Given the description of an element on the screen output the (x, y) to click on. 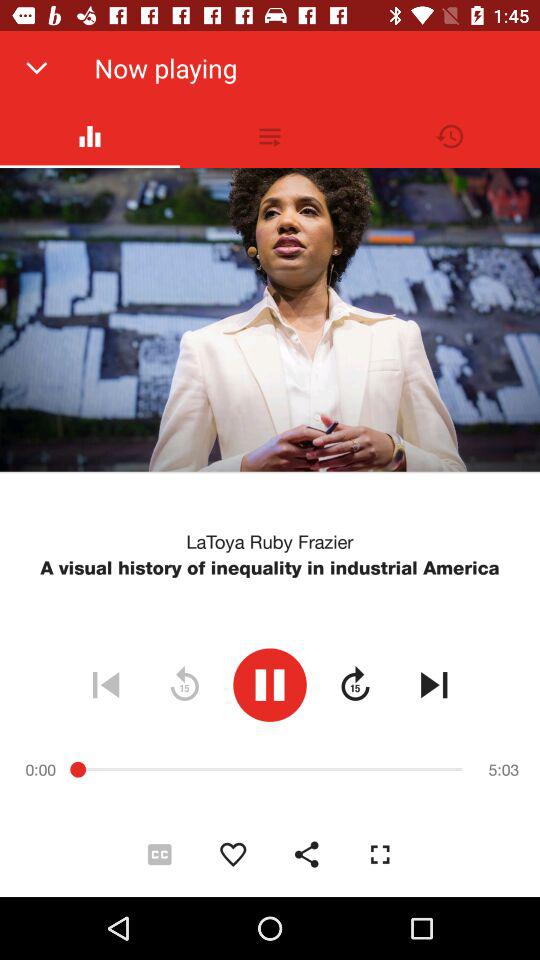
turn off the app next to the now playing item (36, 68)
